Given the description of an element on the screen output the (x, y) to click on. 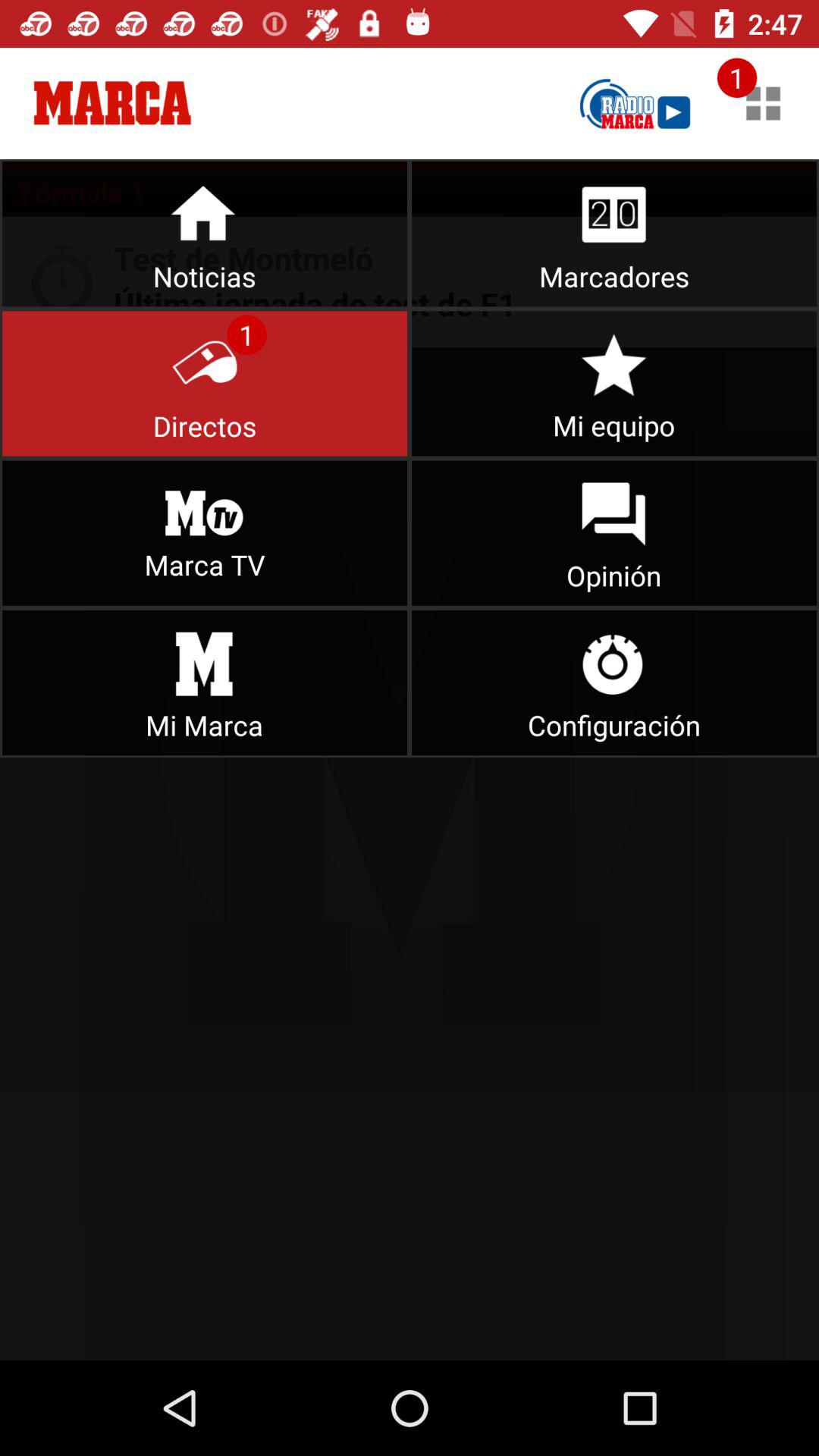
select the option which is in the fourth row second option (614, 682)
